Given the description of an element on the screen output the (x, y) to click on. 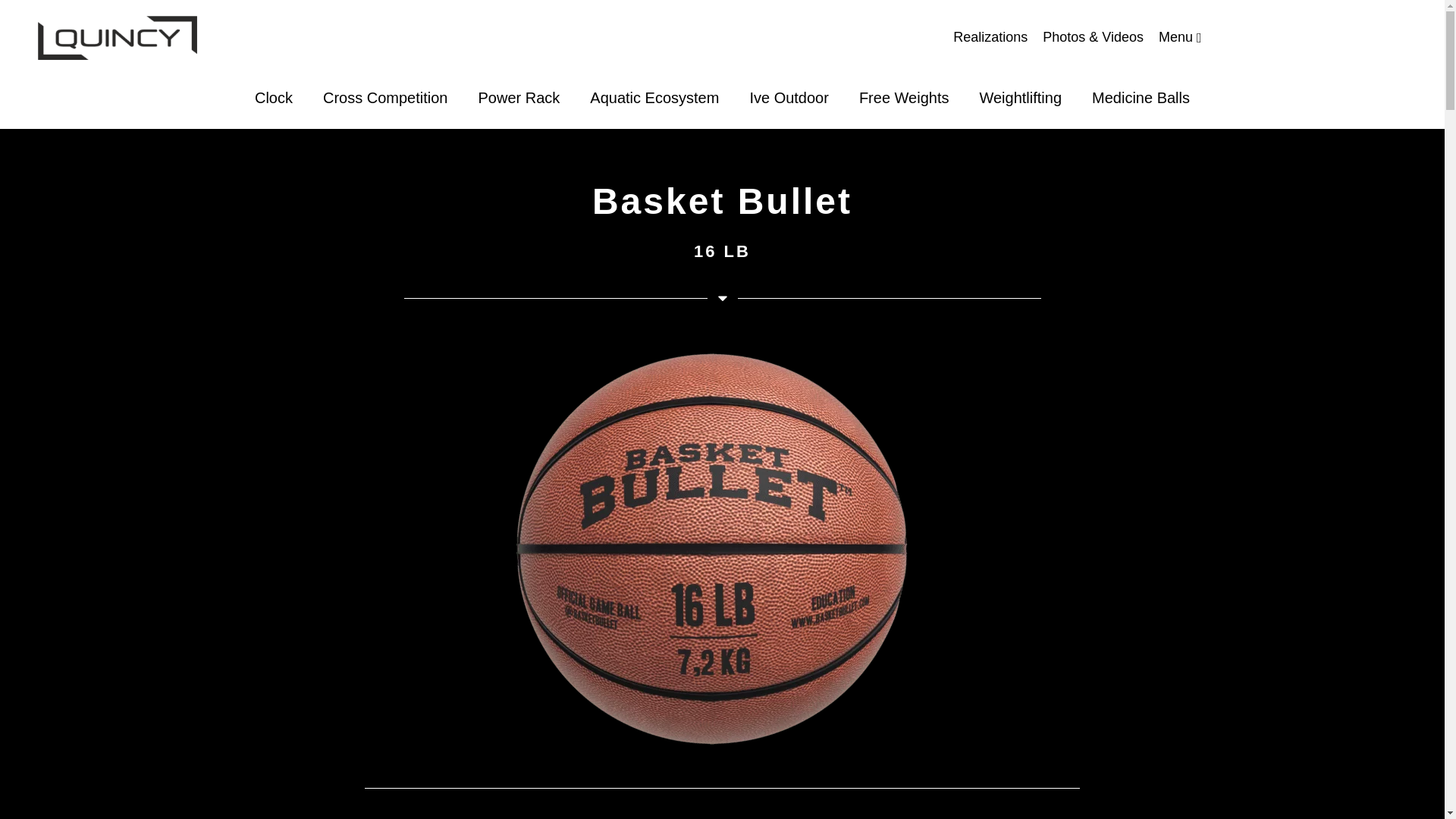
Weightlifting (1020, 98)
Realizations (989, 37)
Free Weights (903, 98)
Ive Outdoor (788, 98)
Medicine Balls (1141, 98)
Aquatic Ecosystem (654, 98)
Cross Competition (385, 98)
Clock (273, 98)
Menu (1181, 37)
Power Rack (519, 98)
